Given the description of an element on the screen output the (x, y) to click on. 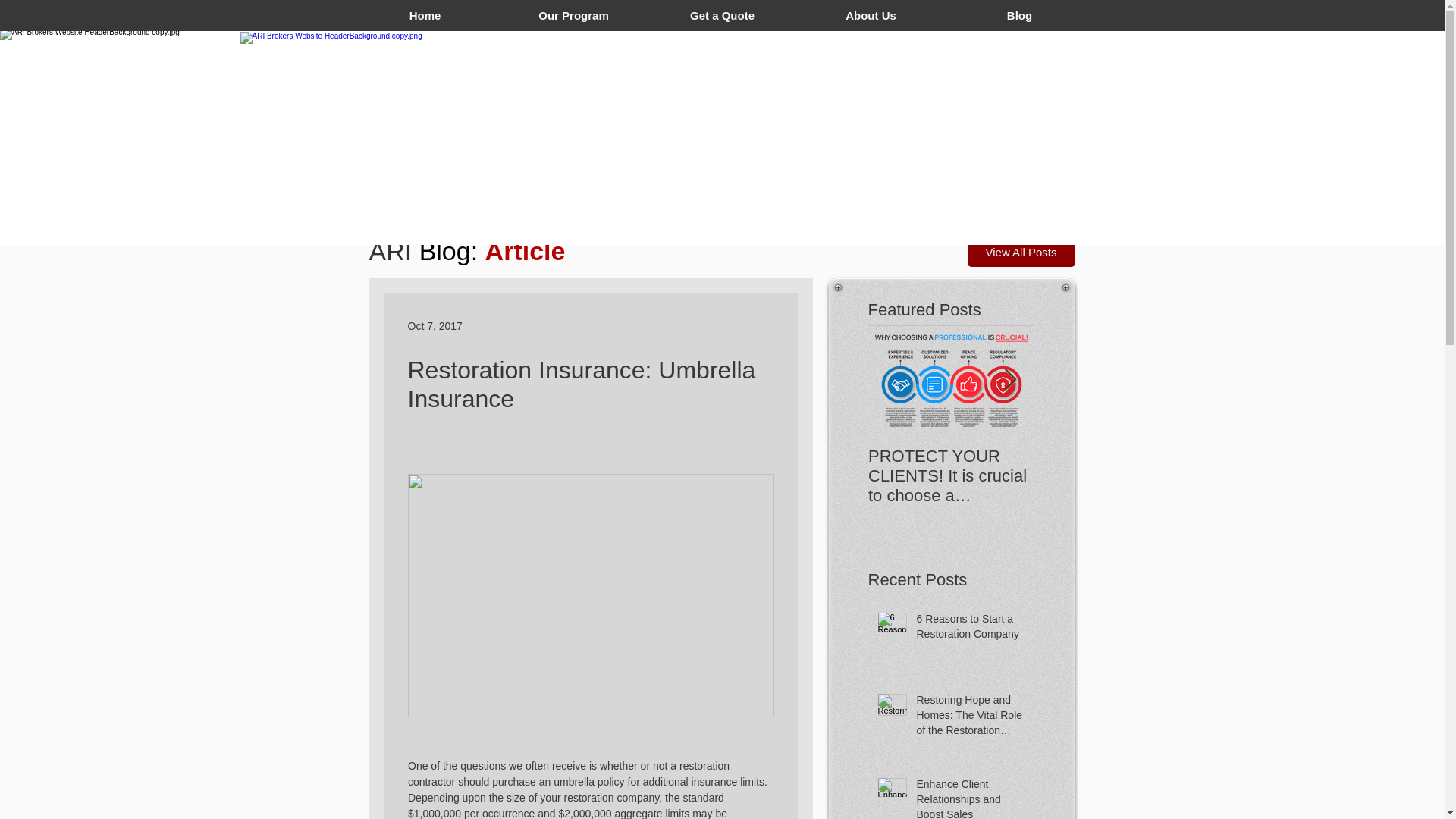
Get a Quote (721, 15)
View All Posts (1021, 251)
Oct 7, 2017 (435, 326)
Home (424, 15)
Enhance Client Relationships and Boost Sales (970, 798)
About Us (870, 15)
6 Reasons to Start a Restoration Company (970, 629)
Blog (1018, 15)
Our Program (573, 15)
